Given the description of an element on the screen output the (x, y) to click on. 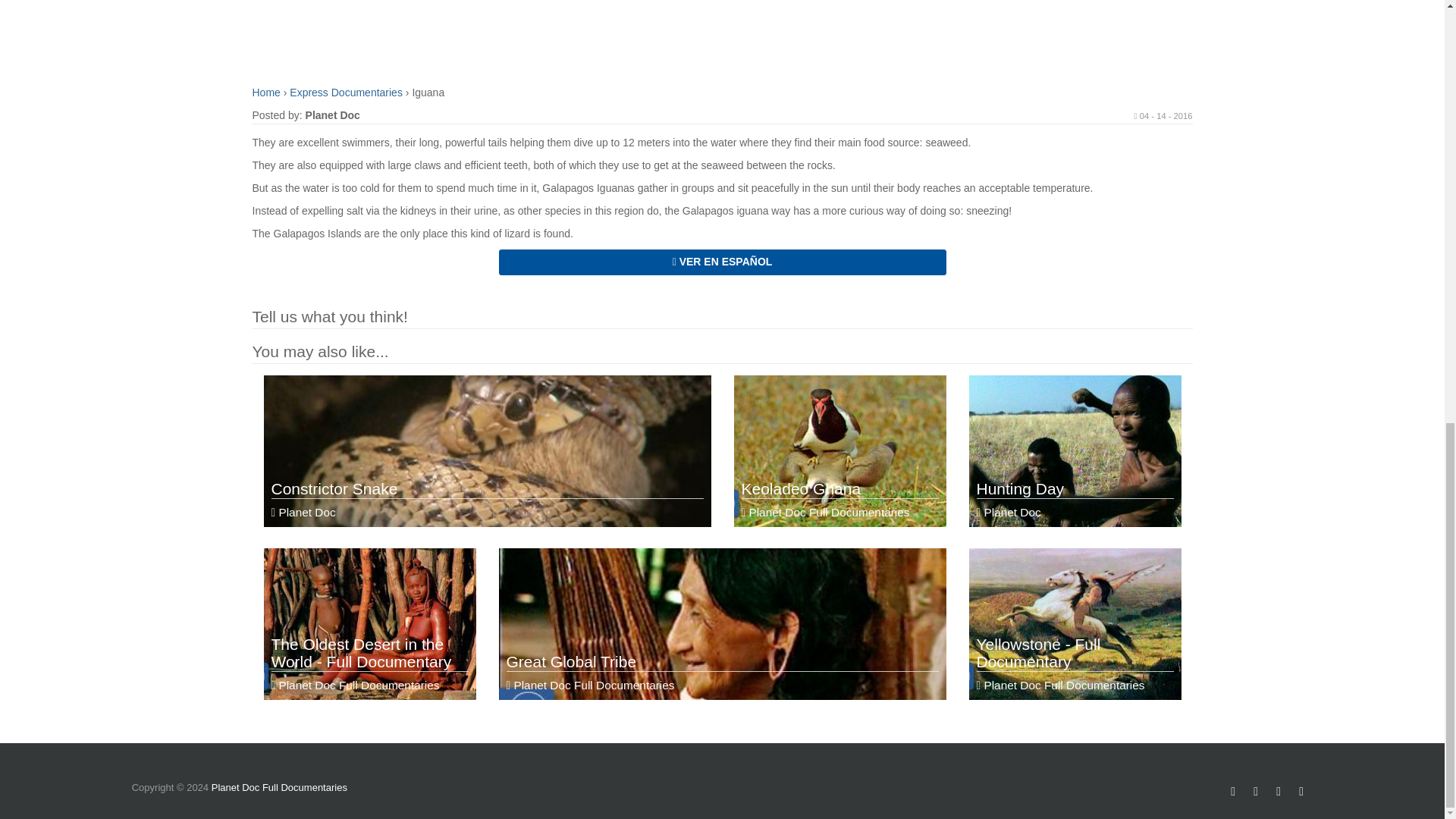
Home (1074, 633)
Advertisement (1074, 460)
Planet Doc Full Documentaries (266, 92)
Express Documentaries (706, 37)
